Given the description of an element on the screen output the (x, y) to click on. 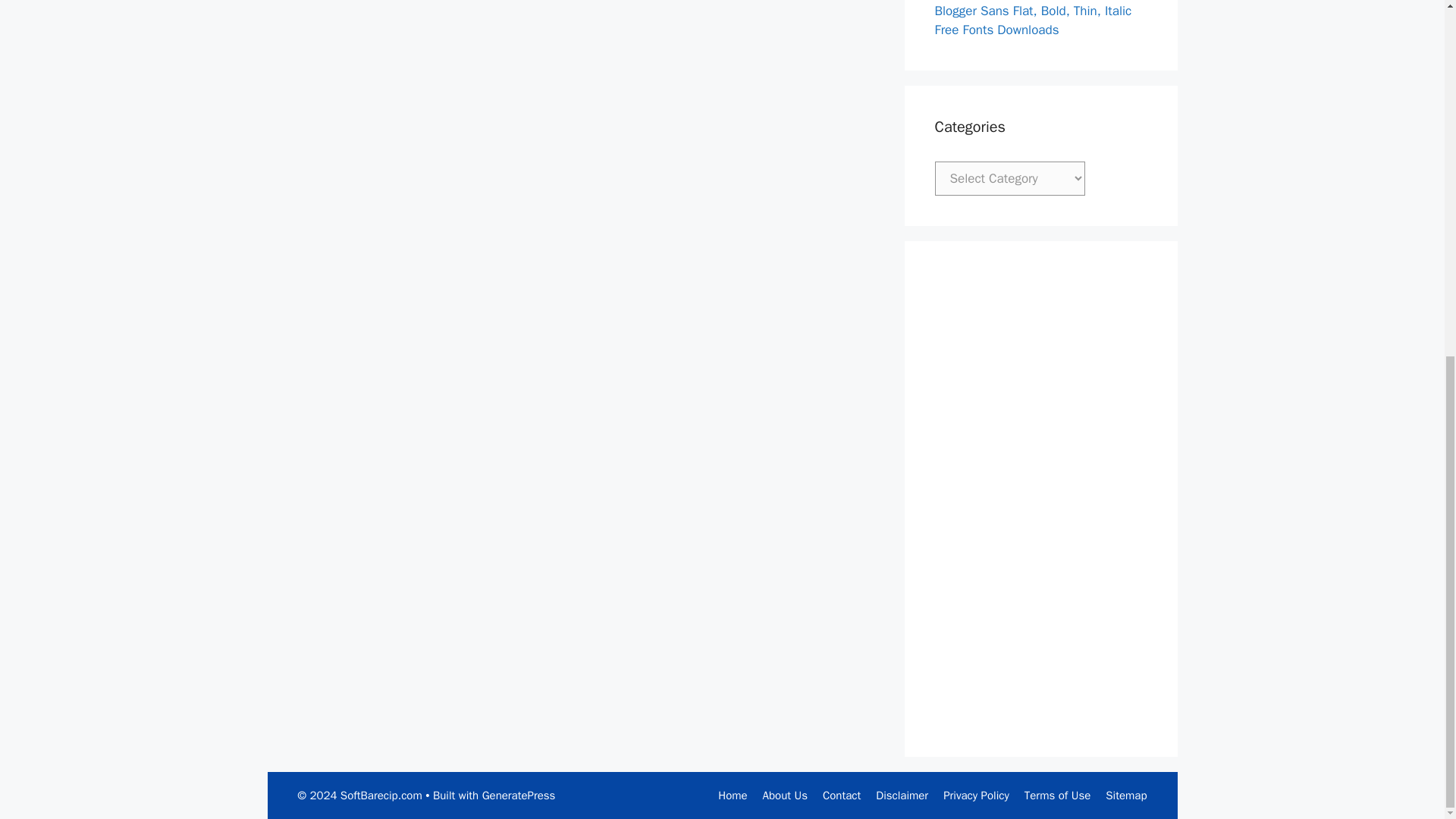
Vision Apple Free Sans-Serif Font Download (130, 556)
Amazon Affiliate Disclaimer (129, 45)
Top 5 Best Mobile Shopping Apps (131, 468)
Aerojones Flat, Bold Free Font Downloads (120, 439)
Search for: (142, 312)
Top Android Video Editor Apps (120, 700)
Resphekt, Brush Type Handwriting Font Downloads (132, 517)
Medical Disclaimer (110, 63)
Uni Neue Free Sans Serif Font Downloads (121, 594)
Terms of Use (71, 136)
Contact (56, 81)
Affiliate Disclosure (109, 27)
Disclaimer (63, 99)
Digital Millennium Copyright Act Notice (156, 9)
Search for: (123, 355)
